Given the description of an element on the screen output the (x, y) to click on. 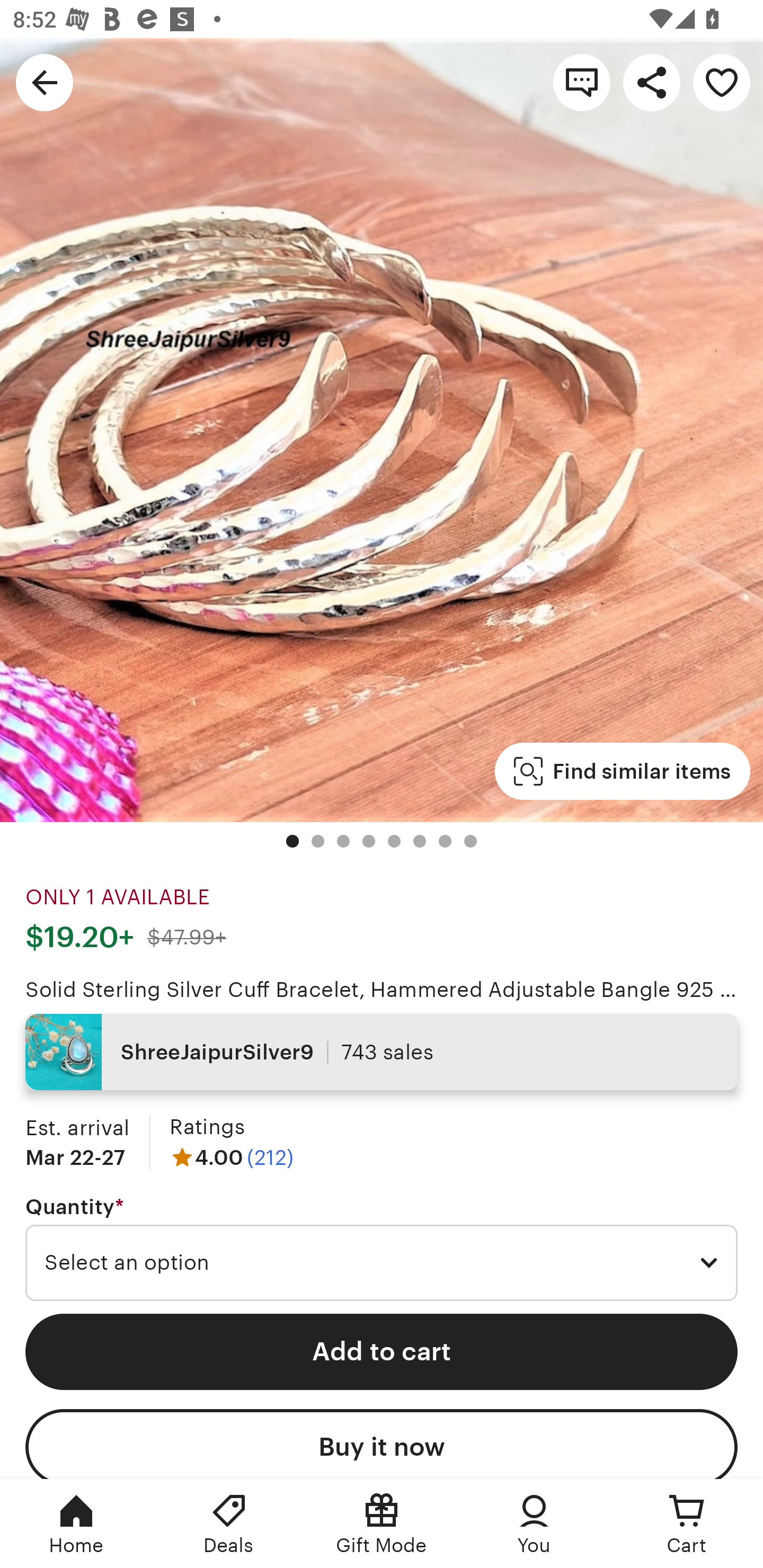
Navigate up (44, 81)
Contact shop (581, 81)
Share (651, 81)
Find similar items (622, 771)
ShreeJaipurSilver9 743 sales (381, 1051)
Ratings (206, 1126)
4.00 (212) (231, 1156)
Quantity * Required Select an option (381, 1247)
Select an option (381, 1262)
Add to cart (381, 1351)
Buy it now (381, 1443)
Deals (228, 1523)
Gift Mode (381, 1523)
You (533, 1523)
Cart (686, 1523)
